Given the description of an element on the screen output the (x, y) to click on. 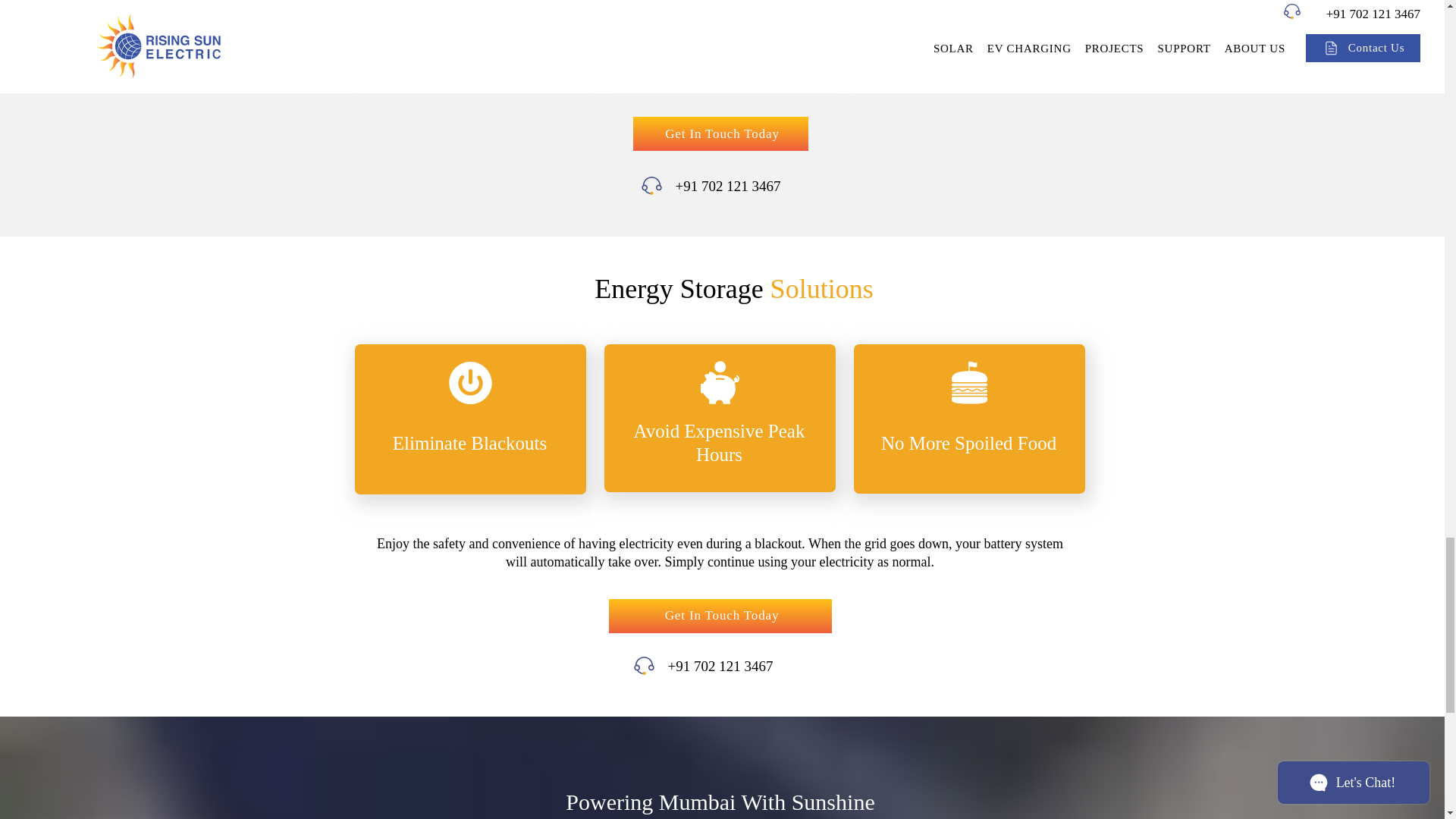
Get In Touch Today (719, 133)
Get In Touch Today (719, 615)
